Given the description of an element on the screen output the (x, y) to click on. 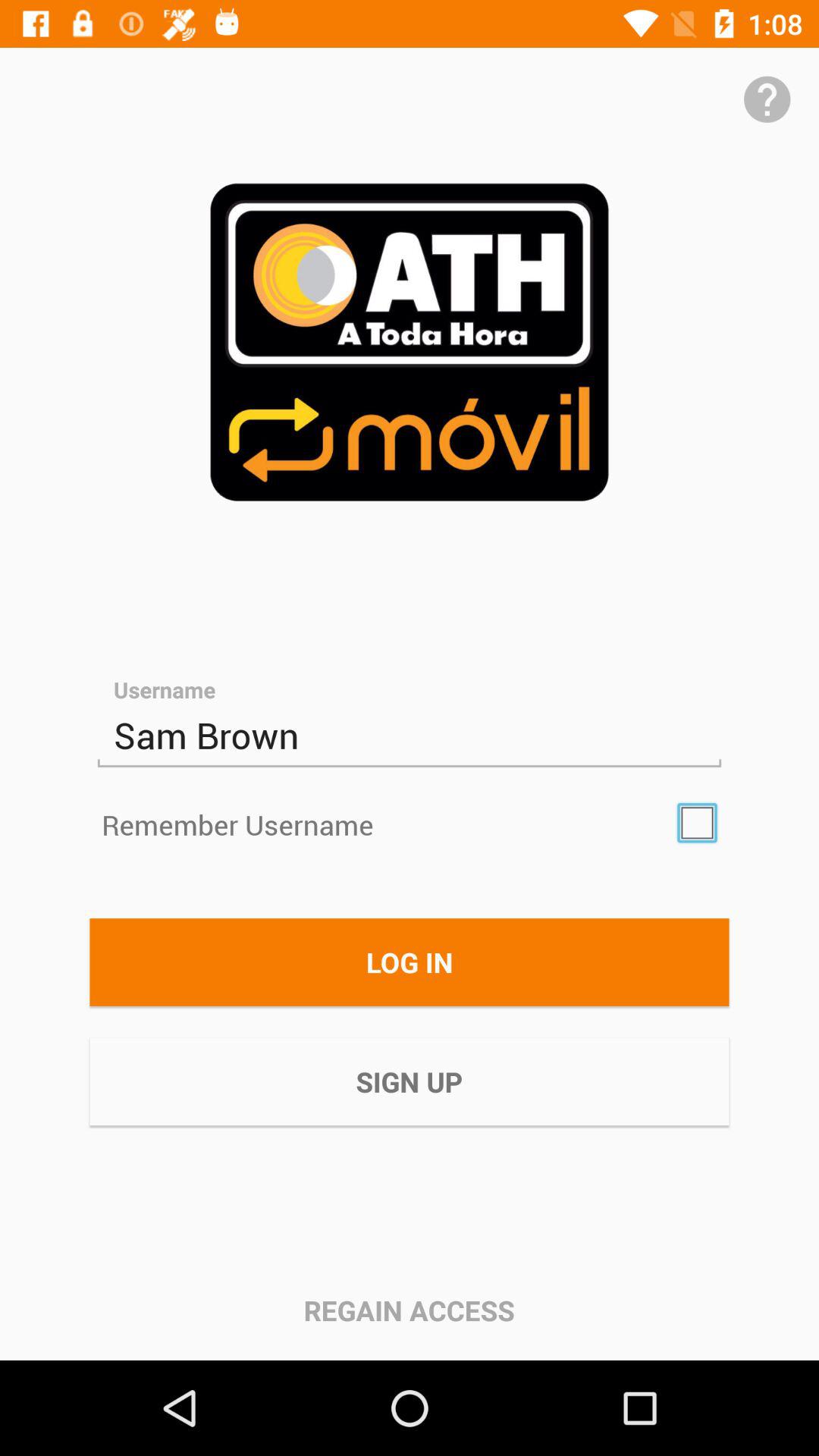
flip to sam brown item (409, 735)
